Given the description of an element on the screen output the (x, y) to click on. 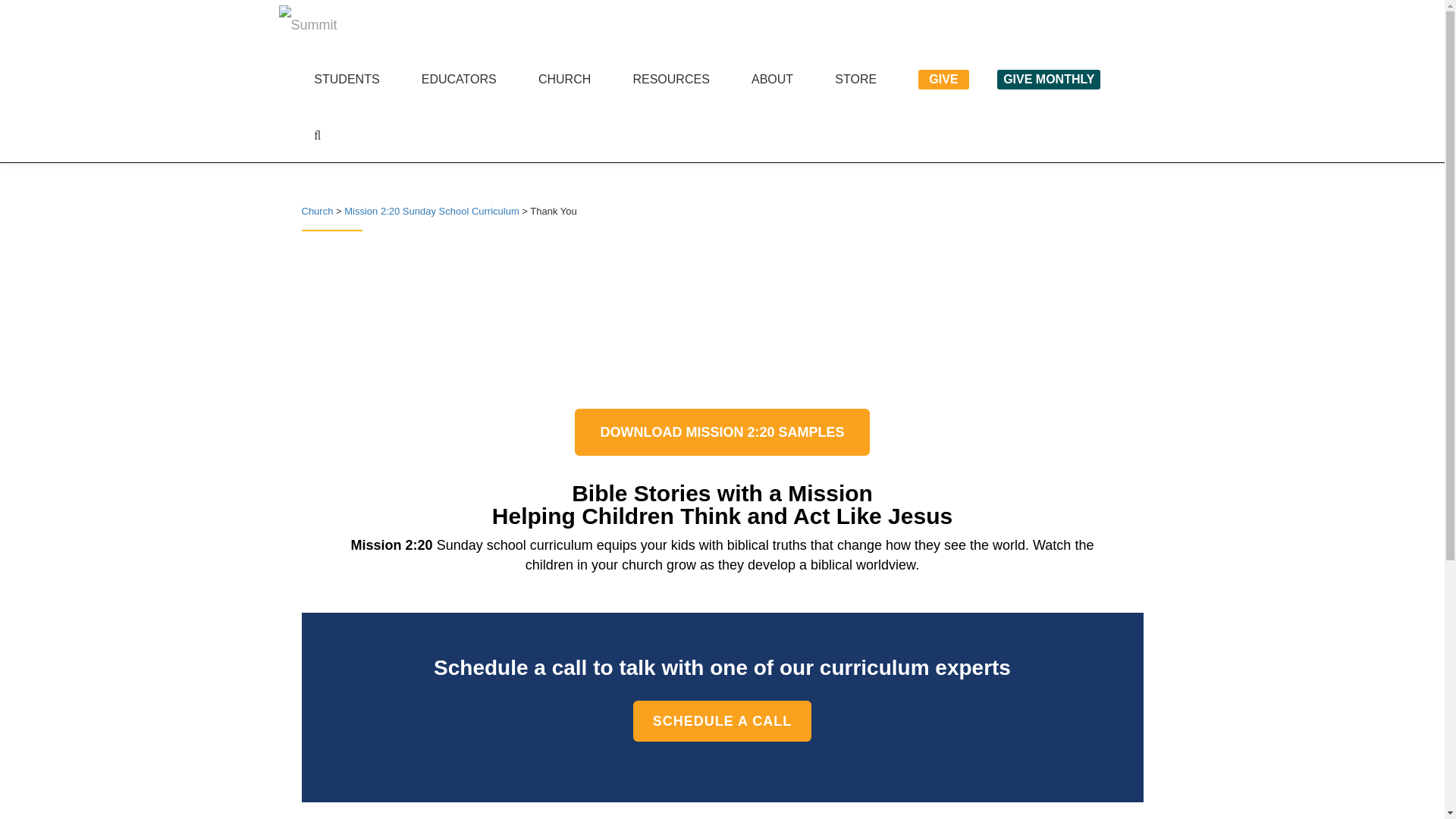
STORE (855, 79)
EDUCATORS (459, 79)
STUDENTS (346, 79)
CHURCH (564, 79)
Go to Church. (317, 211)
GIVE MONTHLY (1048, 79)
SCHEDULE A CALL (722, 721)
Mission 2:20 Sunday School Curriculum (431, 211)
DOWNLOAD MISSION 2:20 SAMPLES (722, 431)
Summit Ministries (336, 26)
